Given the description of an element on the screen output the (x, y) to click on. 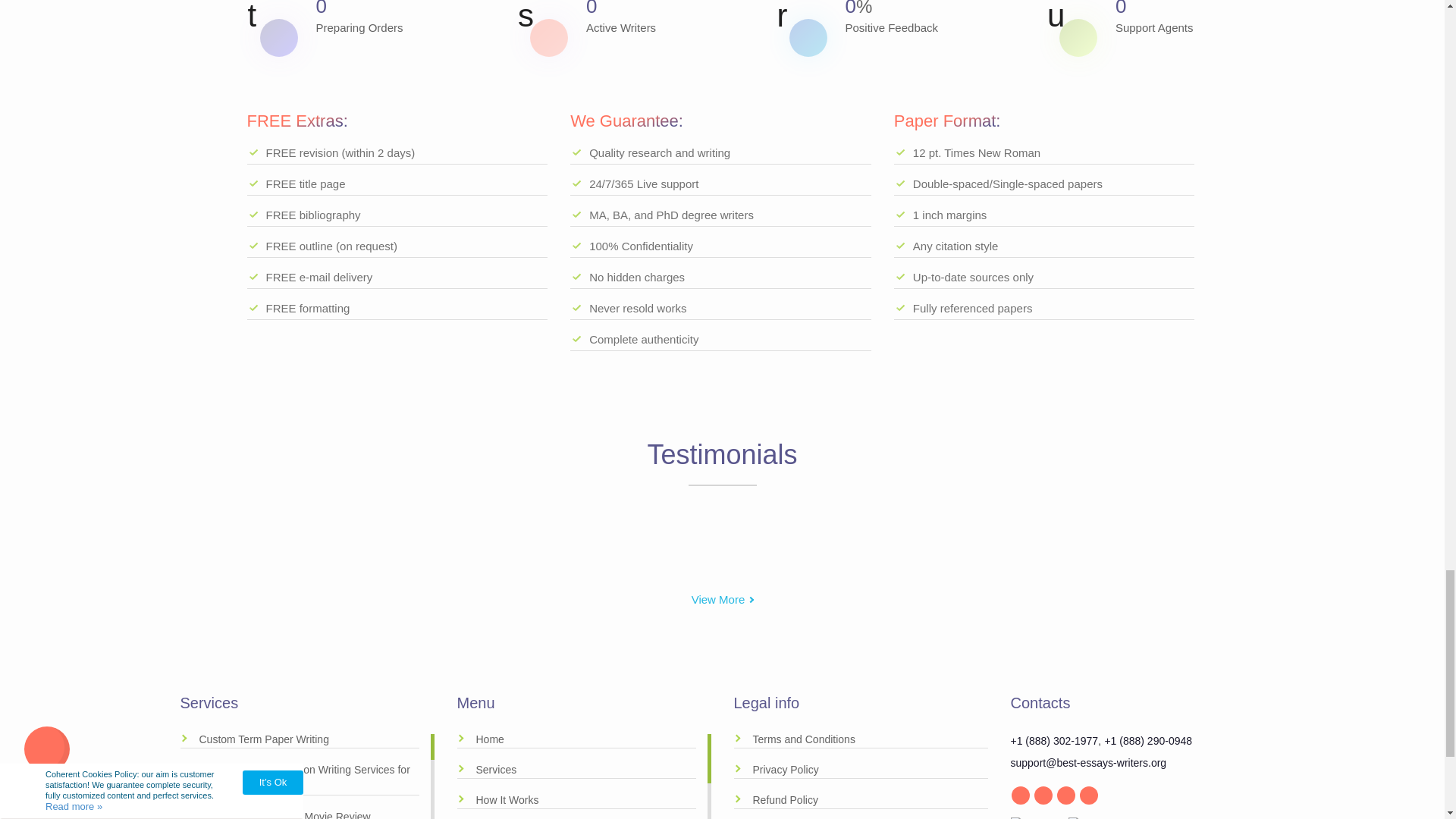
Custom Term Paper Writing (299, 739)
Outstanding Dissertation Writing Services for You (299, 778)
Real Help in Writing a Movie Review (299, 813)
Custom Term Paper Writing (299, 739)
